Given the description of an element on the screen output the (x, y) to click on. 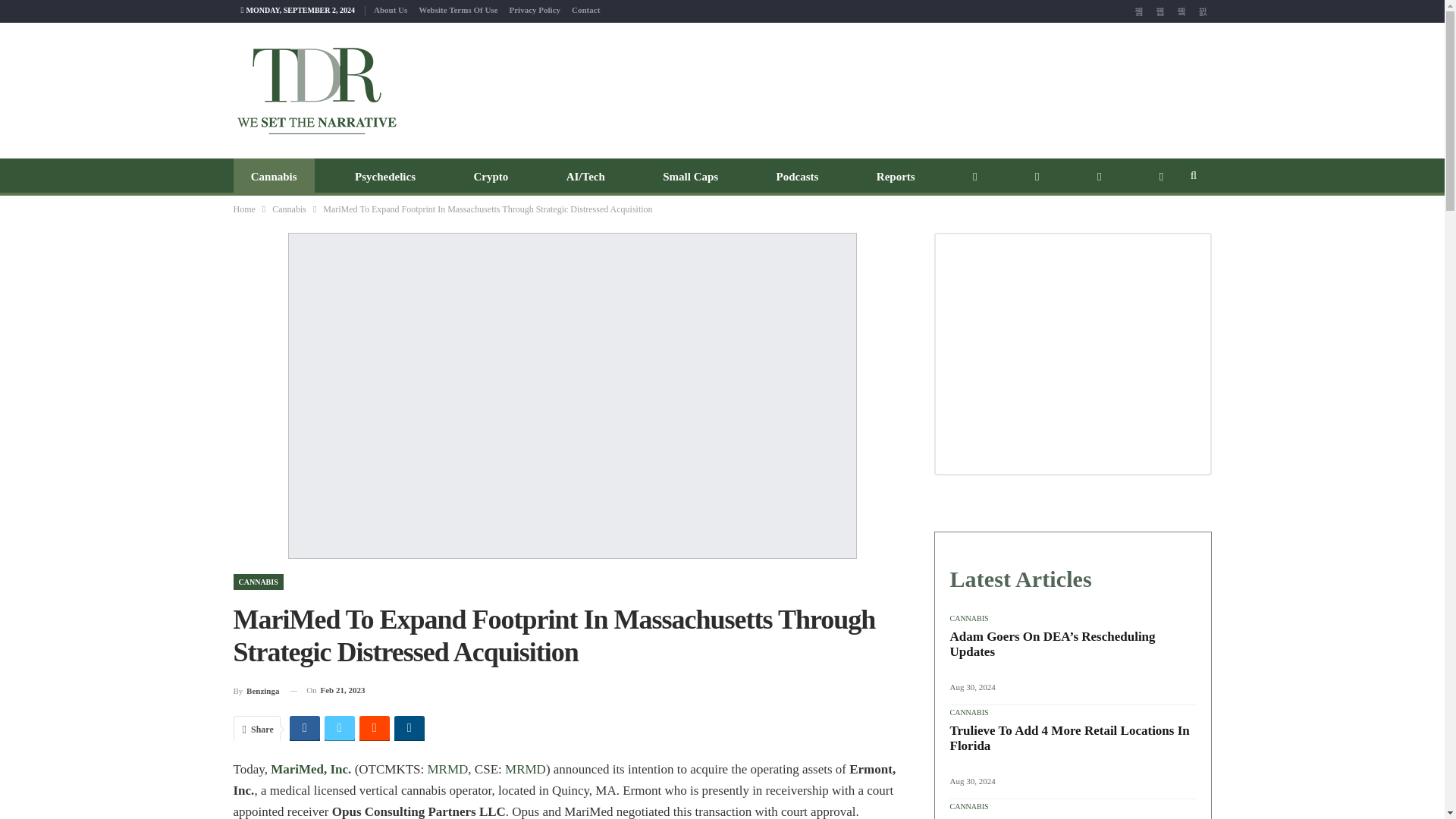
Crypto (490, 176)
Browse Author Articles (255, 690)
MRMD (525, 769)
CANNABIS (257, 581)
Privacy Policy (534, 9)
By Benzinga (255, 690)
Psychedelics (384, 176)
Reports (896, 176)
About Us (390, 9)
Contact (585, 9)
